Given the description of an element on the screen output the (x, y) to click on. 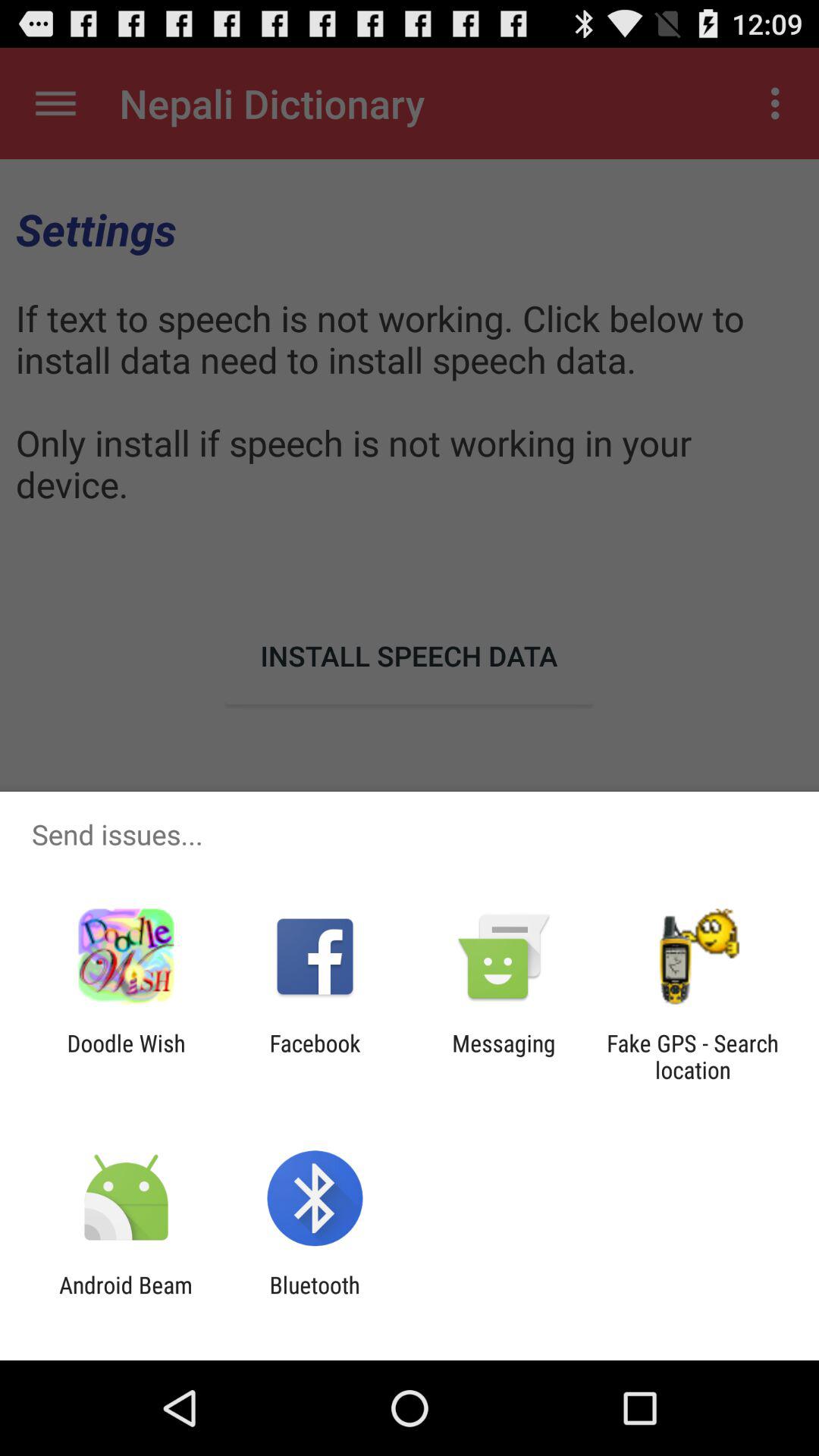
scroll until the doodle wish item (126, 1056)
